Given the description of an element on the screen output the (x, y) to click on. 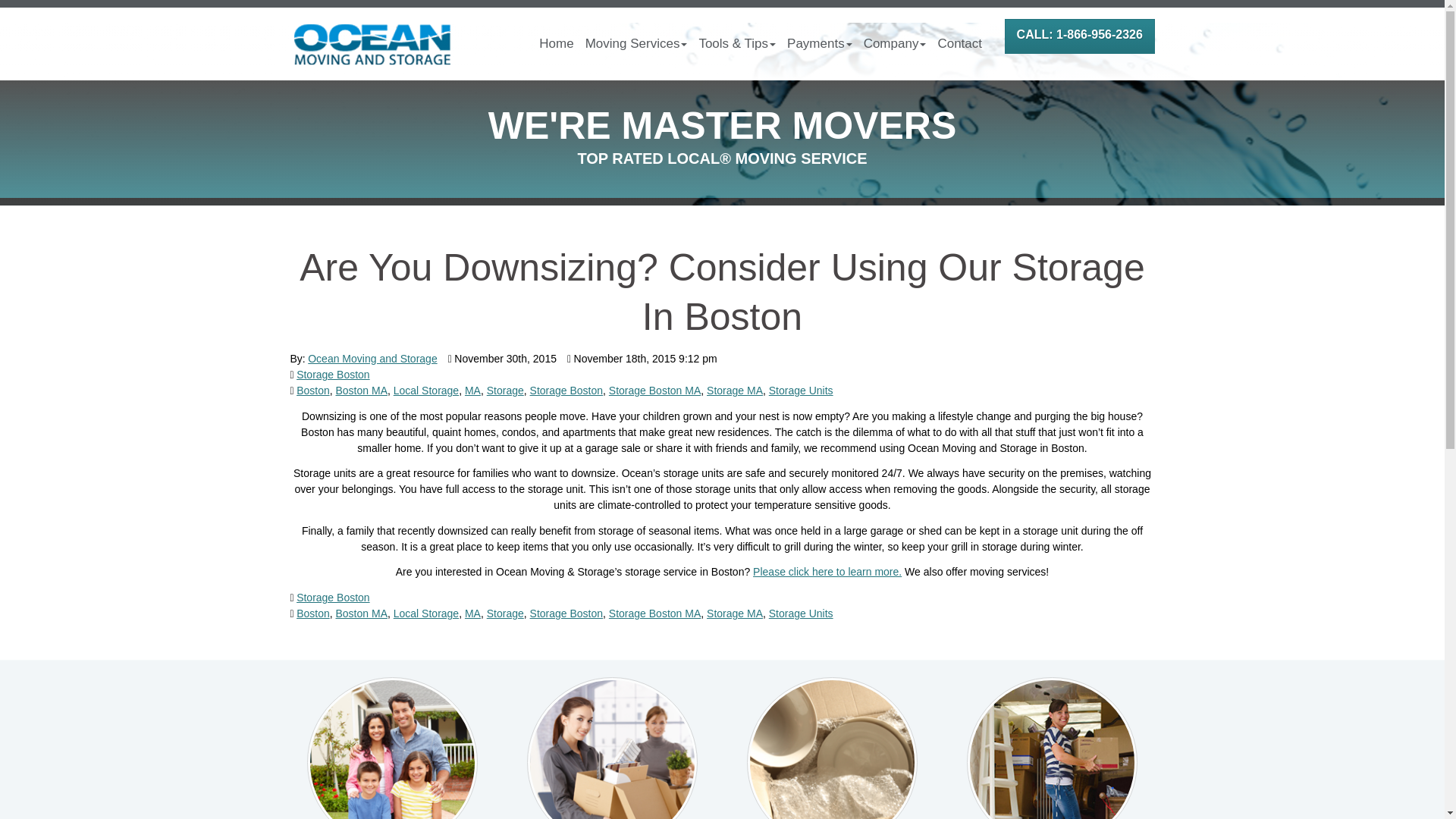
Payments (821, 43)
Company (897, 43)
CALL: 1-866-956-2326 (1079, 36)
Date Modified (642, 358)
Moving Services (637, 43)
Date Published (502, 358)
